Given the description of an element on the screen output the (x, y) to click on. 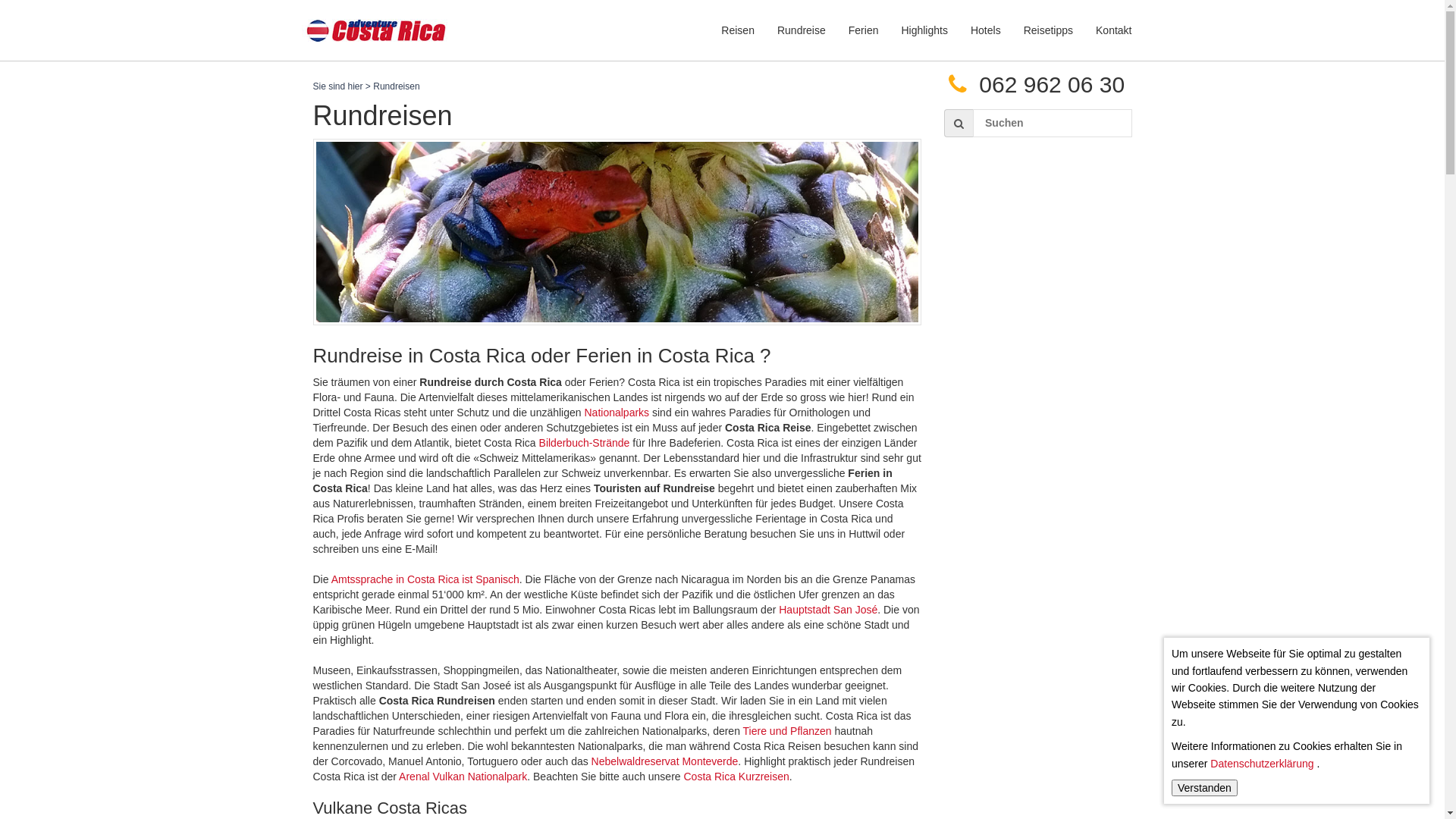
Reisen und Rundreisen in Costa Rica Element type: hover (377, 20)
Nationalparks Element type: text (617, 412)
Amtssprache in Costa Rica ist Spanisch Element type: text (425, 579)
Reisen und Rundreisen in Costa Rica Element type: hover (377, 29)
Rundreise Element type: text (801, 30)
Reisetipps Element type: text (1048, 30)
Rundreisen Element type: hover (616, 231)
Arenal Vulkan Nationalpark Element type: text (462, 776)
Kontakt Element type: text (1113, 30)
Highlights Element type: text (923, 30)
Reisen Element type: text (737, 30)
Nebelwaldreservat Monteverde Element type: text (664, 761)
Verstanden Element type: text (1204, 787)
Tiere und Pflanzen Element type: text (787, 730)
Hotels Element type: text (985, 30)
Costa Rica Kurzreisen Element type: text (736, 776)
Ferien Element type: text (863, 30)
